Given the description of an element on the screen output the (x, y) to click on. 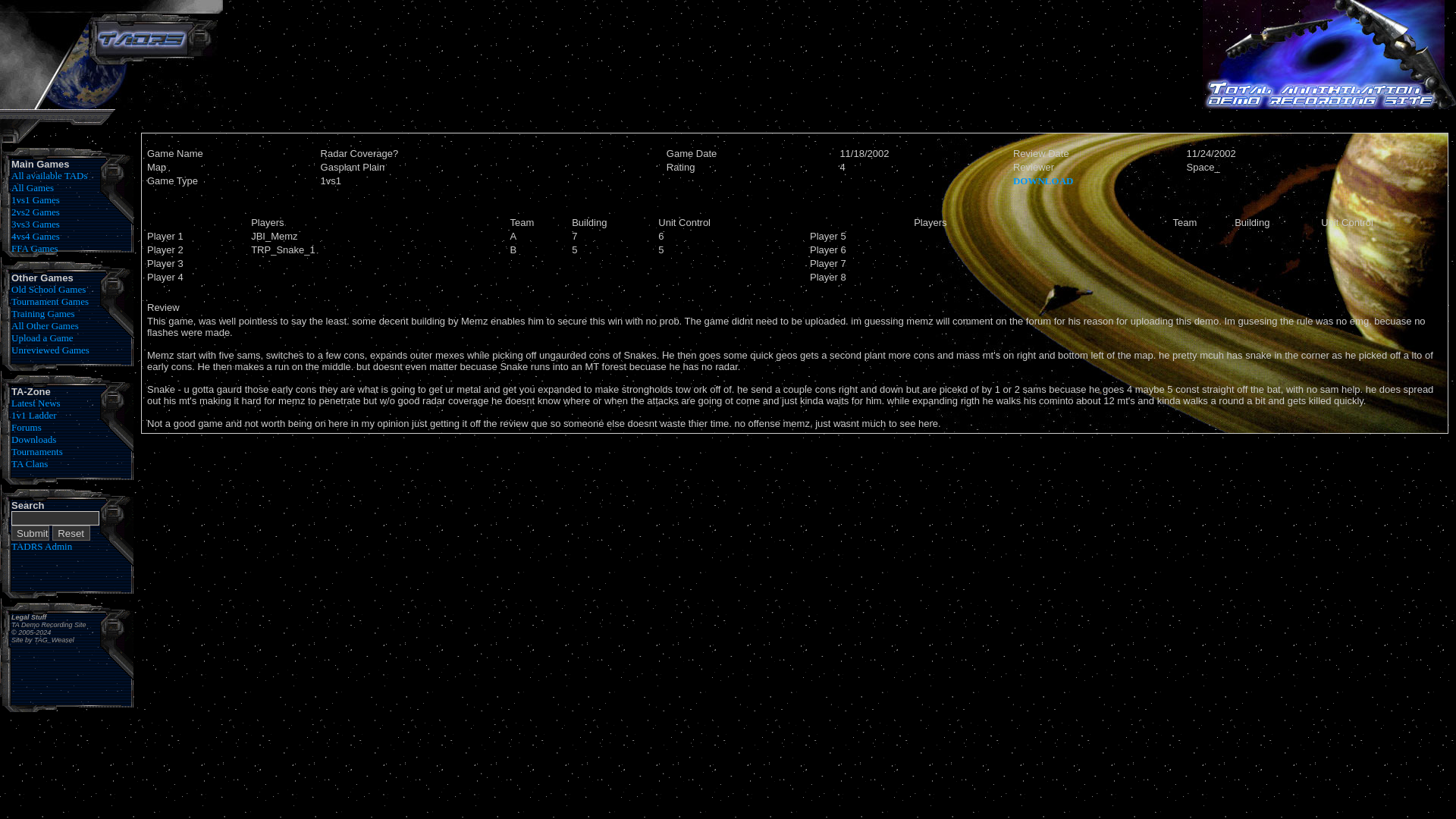
Submit (30, 532)
Reset (71, 532)
1v1 Ladder (33, 414)
Unreviewed Games (49, 349)
All Other Games (44, 325)
FFA Games (34, 247)
TA Clans (29, 463)
4vs4 Games (35, 235)
Tournament Games (49, 301)
1vs1 Games (35, 199)
